Given the description of an element on the screen output the (x, y) to click on. 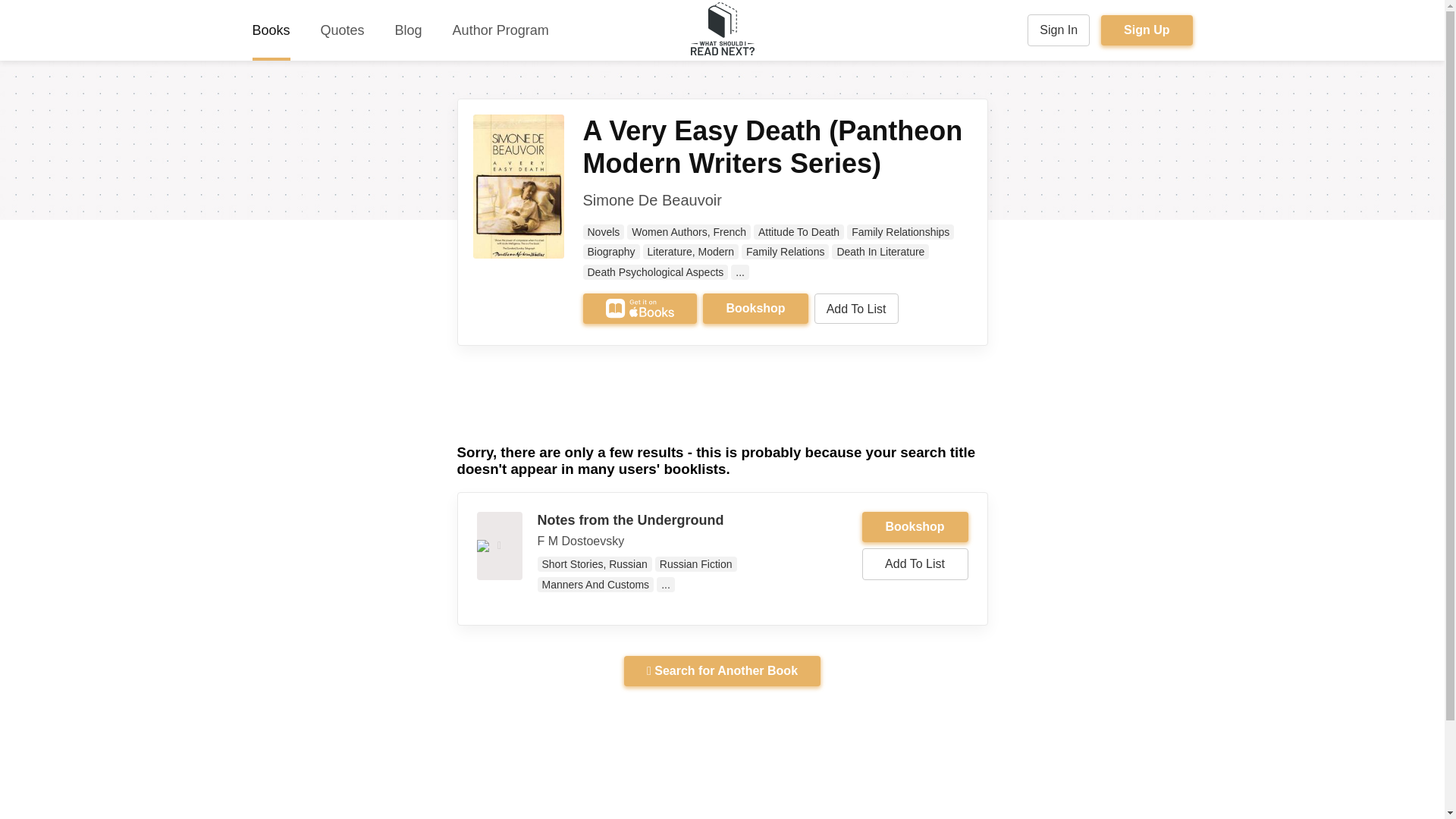
Russian Fiction (695, 563)
Bookshop (755, 308)
Blog (408, 30)
Bookshop (755, 308)
Add To List (855, 308)
Family Relations (784, 251)
Novels (603, 231)
Author Program (500, 30)
Notes from the Underground (630, 519)
Literature, Modern (690, 251)
